Given the description of an element on the screen output the (x, y) to click on. 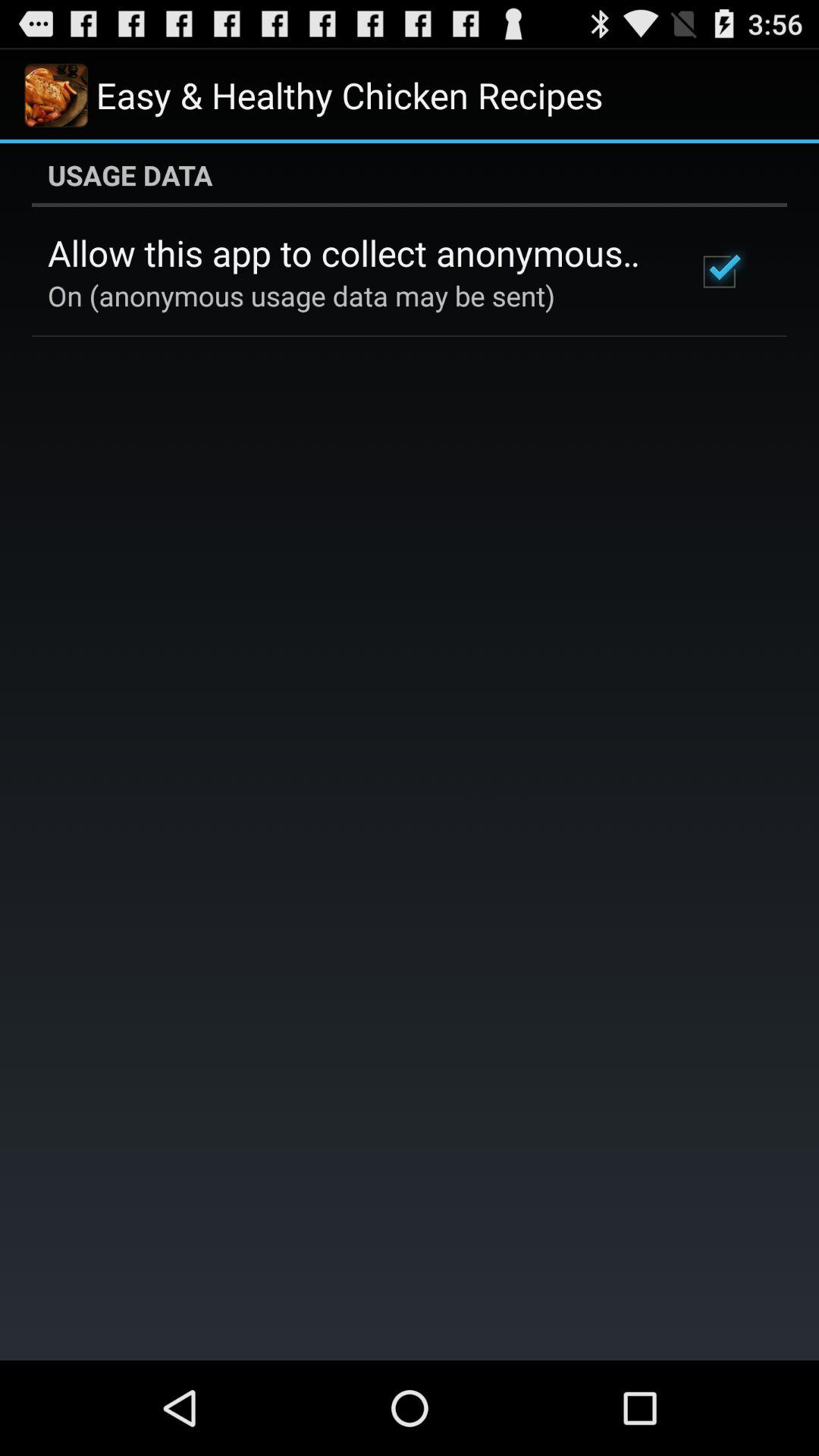
click app to the right of allow this app (719, 271)
